Given the description of an element on the screen output the (x, y) to click on. 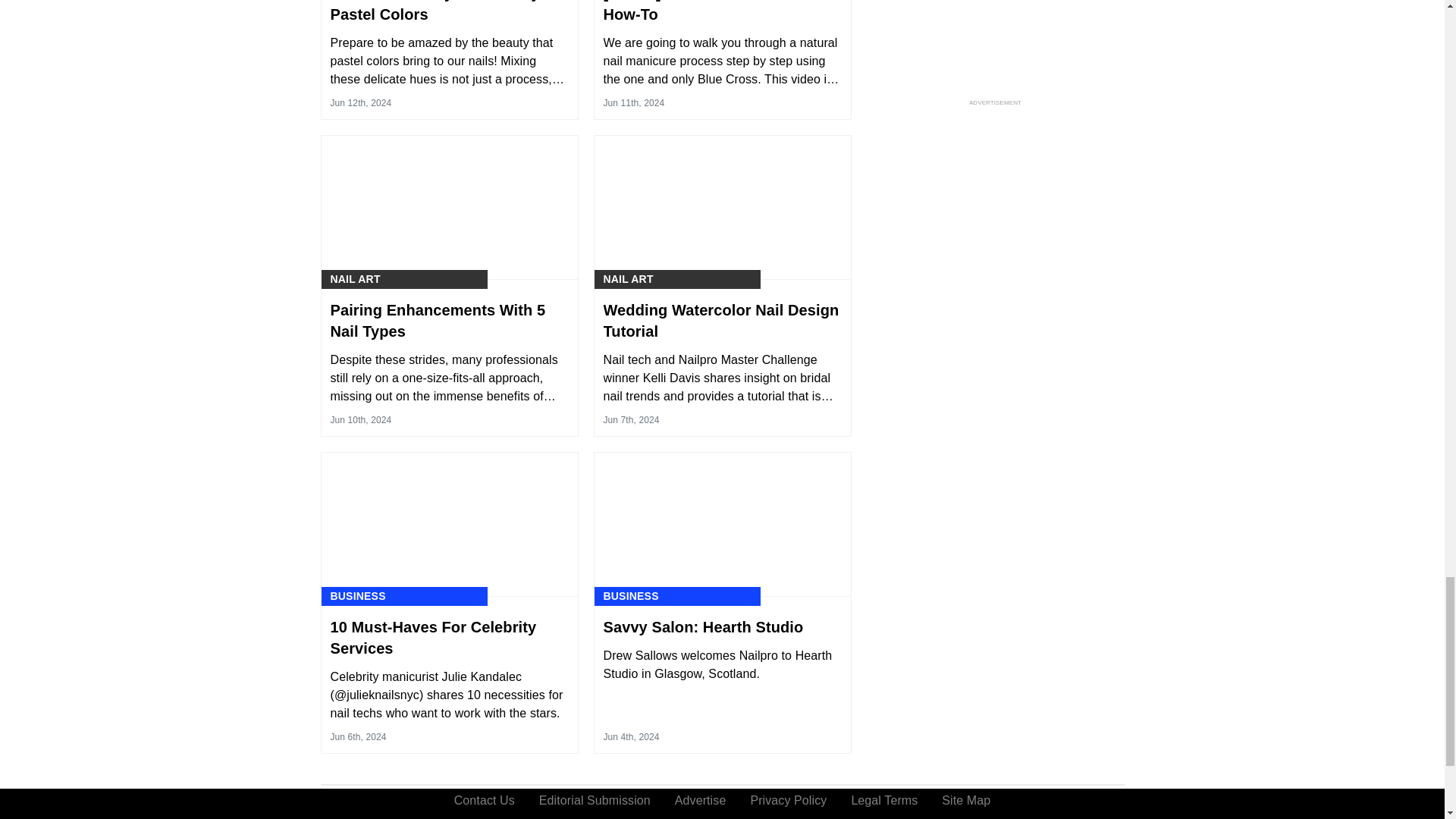
Nail Art (355, 279)
